Given the description of an element on the screen output the (x, y) to click on. 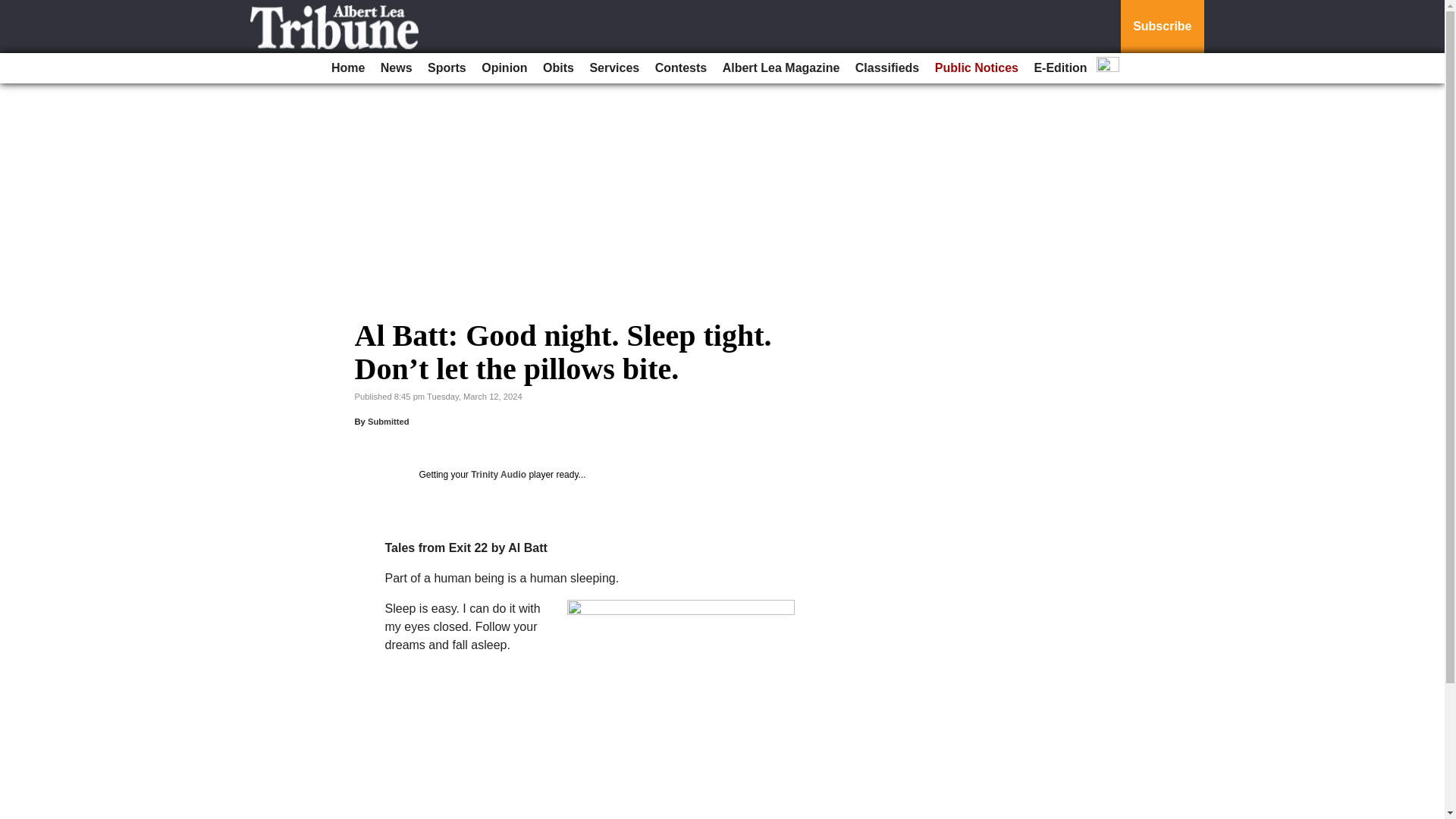
Services (614, 68)
Subscribe (1162, 26)
Home (347, 68)
Opinion (504, 68)
News (396, 68)
Obits (558, 68)
Sports (446, 68)
